Given the description of an element on the screen output the (x, y) to click on. 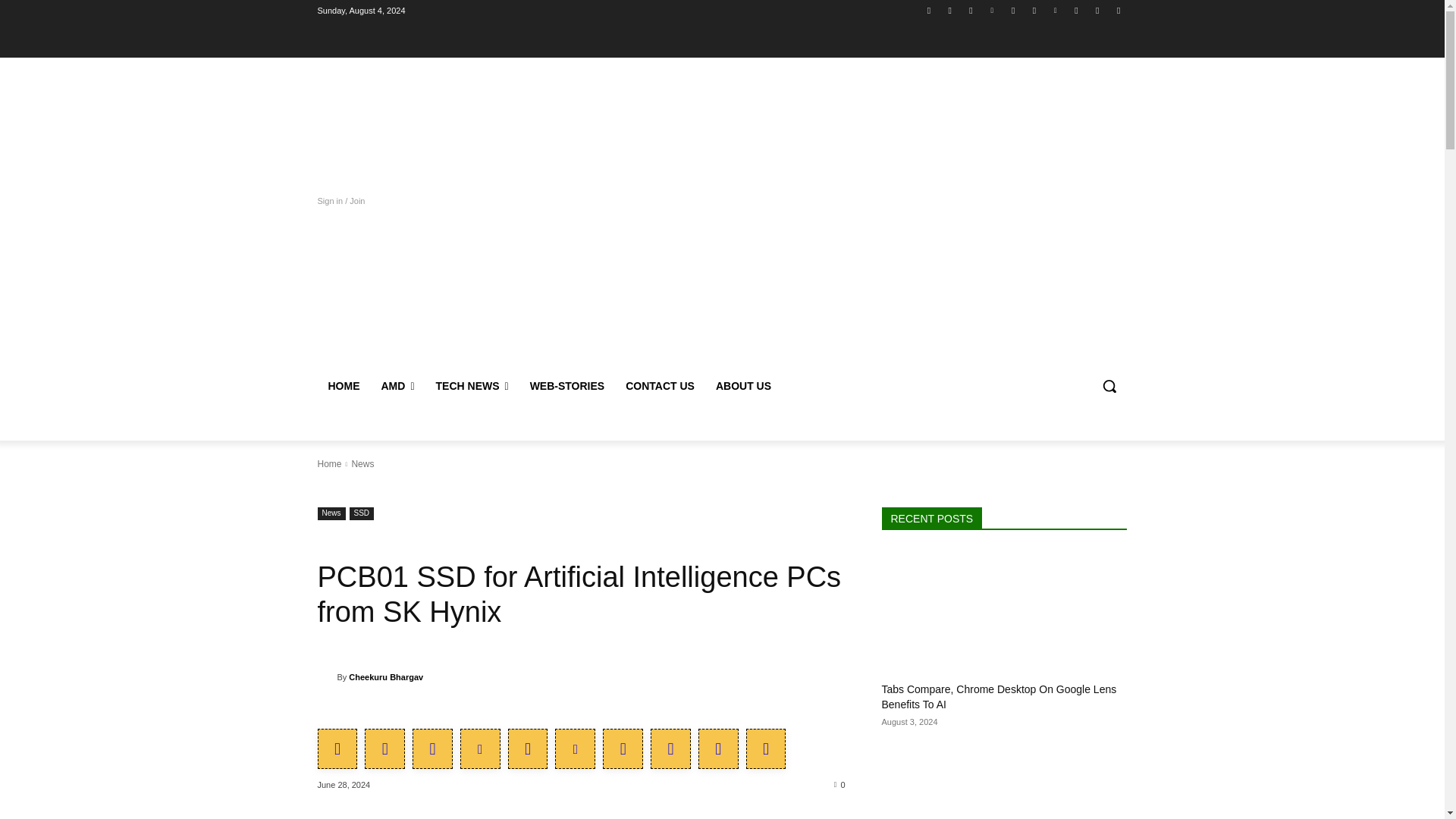
Medium (1013, 9)
Reddit (1097, 9)
Linkedin (992, 9)
Tumblr (1034, 9)
Share (1117, 9)
Instagram (949, 9)
Facebook (928, 9)
Twitter (970, 9)
Whatsapp (1075, 9)
Pinterest (1055, 9)
